Given the description of an element on the screen output the (x, y) to click on. 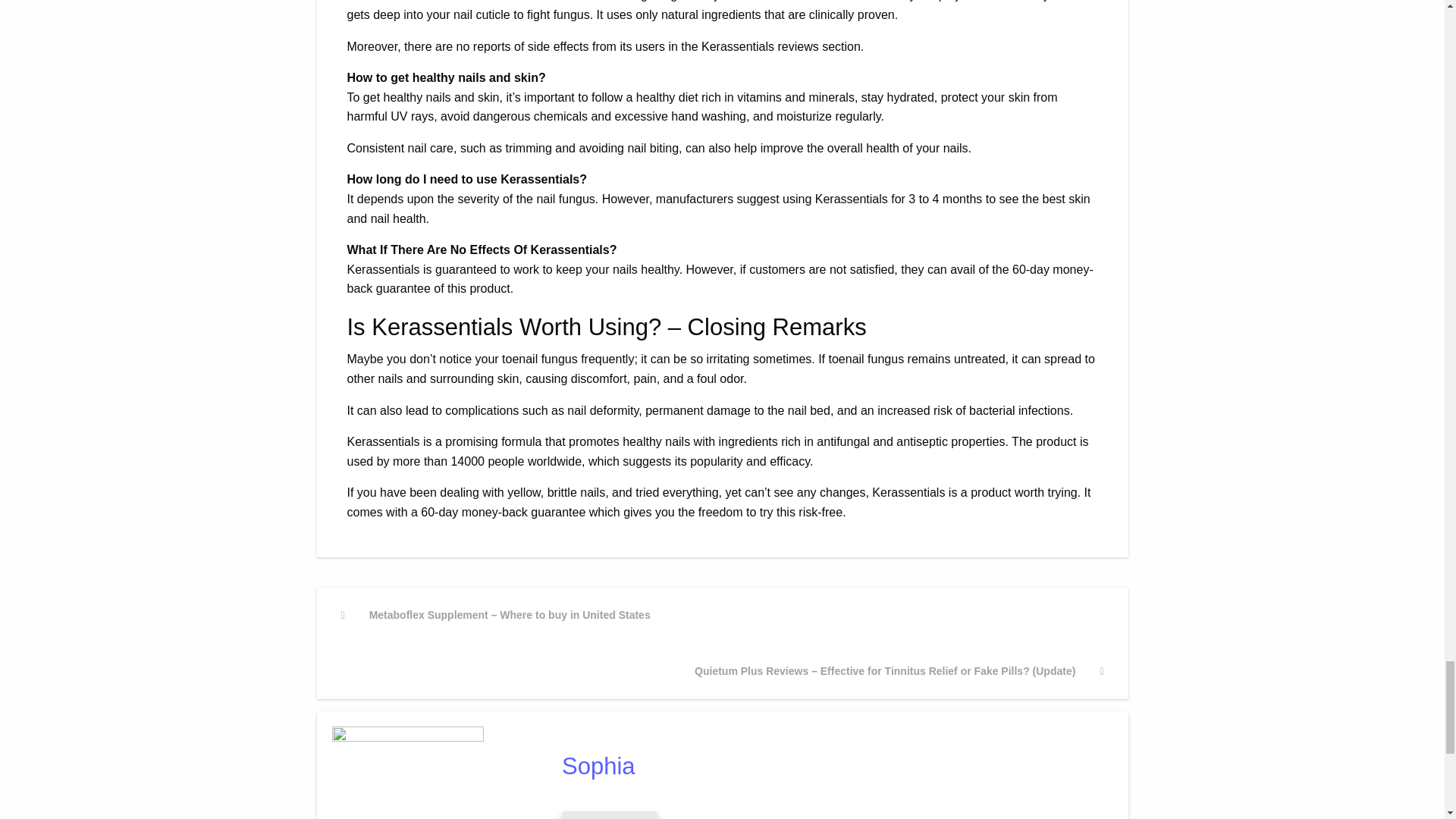
Sophia (831, 766)
View all posts (610, 815)
Sophia (831, 766)
